Given the description of an element on the screen output the (x, y) to click on. 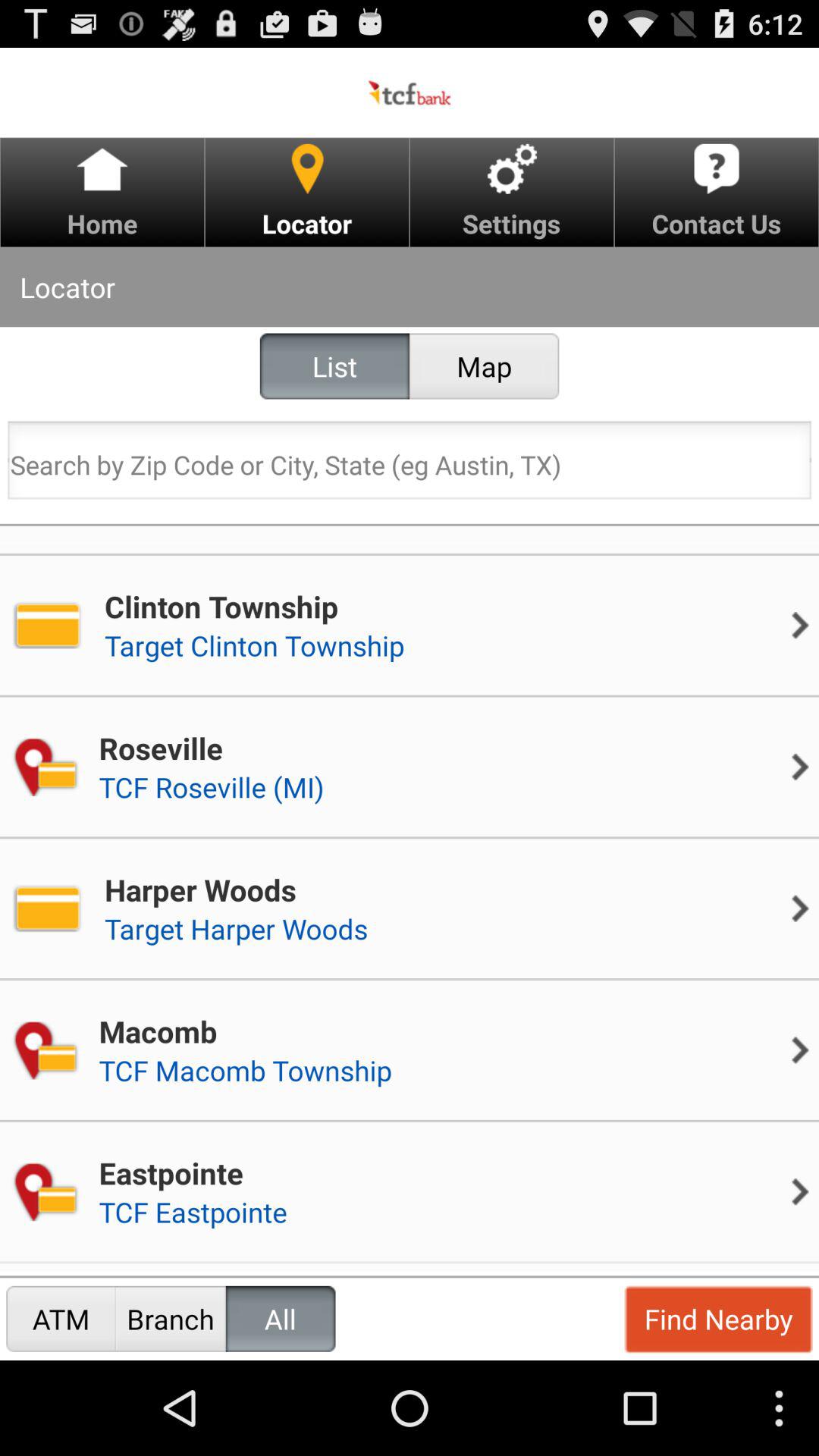
select the radio button to the right of list (484, 366)
